Given the description of an element on the screen output the (x, y) to click on. 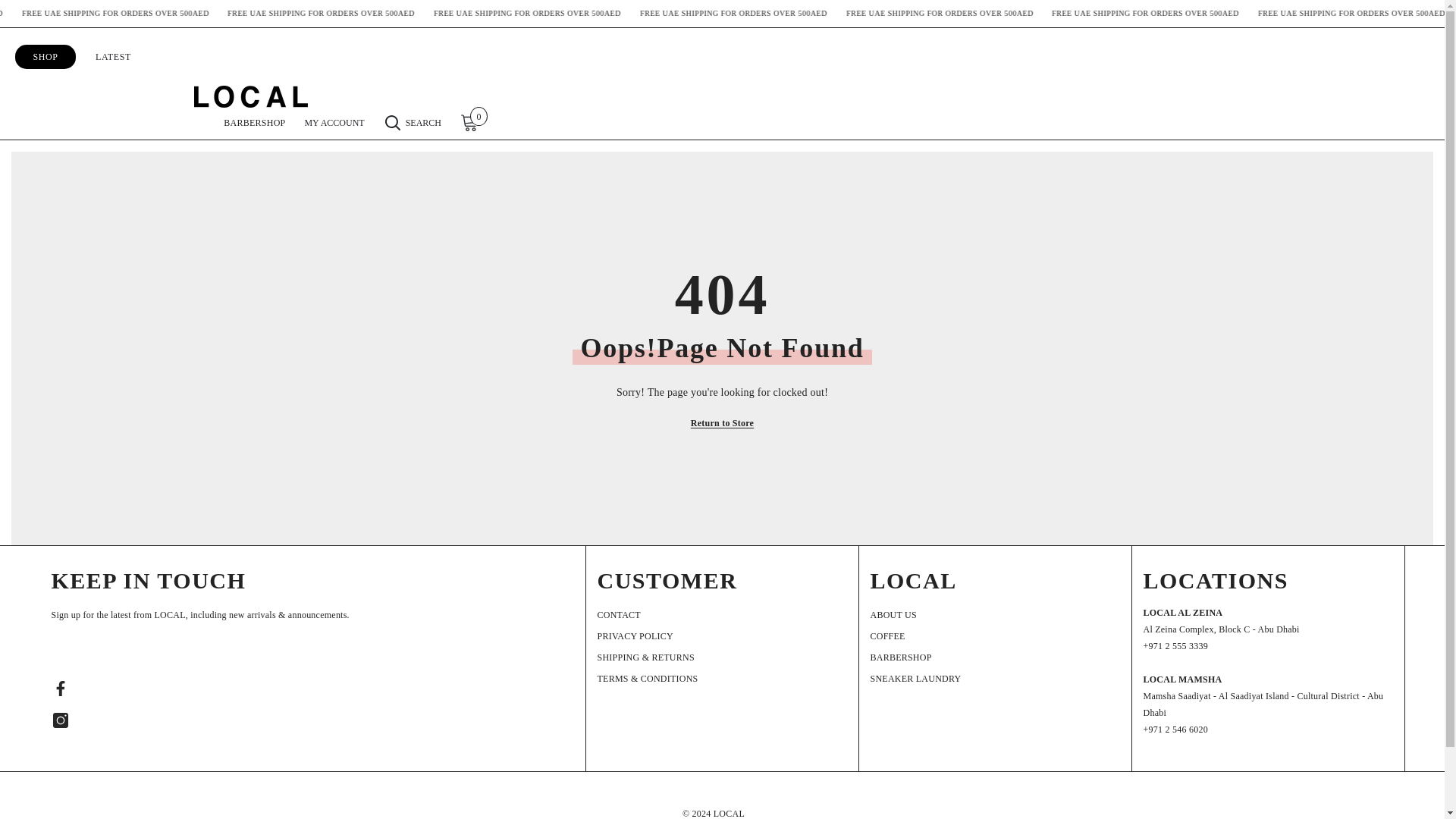
FREE UAE SHIPPING FOR ORDERS OVER 500AED (1015, 13)
FREE UAE SHIPPING FOR ORDERS OVER 500AED (50, 13)
FREE UAE SHIPPING FOR ORDERS OVER 500AED (608, 13)
SHOP (45, 78)
FREE UAE SHIPPING FOR ORDERS OVER 500AED (1219, 13)
FREE UAE SHIPPING FOR ORDERS OVER 500AED (810, 13)
FREE UAE SHIPPING FOR ORDERS OVER 500AED (404, 13)
FREE UAE SHIPPING FOR ORDERS OVER 500AED (201, 13)
